Given the description of an element on the screen output the (x, y) to click on. 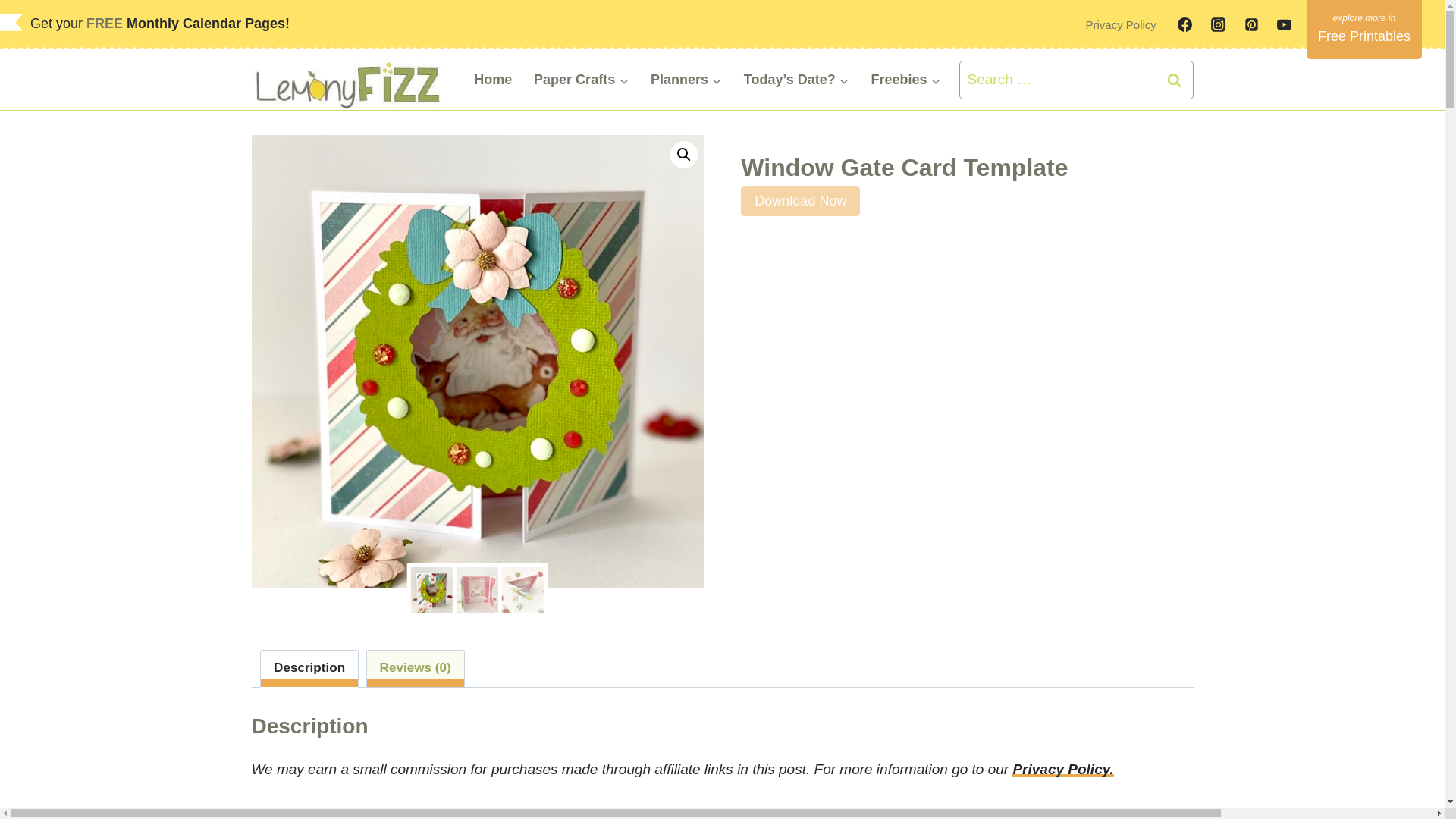
Search (1174, 79)
Search (1174, 79)
Search (1174, 79)
Free Printables (1364, 29)
Privacy Policy (1120, 24)
Home (492, 78)
Planners (686, 78)
FREE (105, 23)
Tuesday Templates: Circle Window Gate Card SVG and Tutorial (722, 808)
Freebies (906, 78)
Paper Crafts (581, 78)
